Given the description of an element on the screen output the (x, y) to click on. 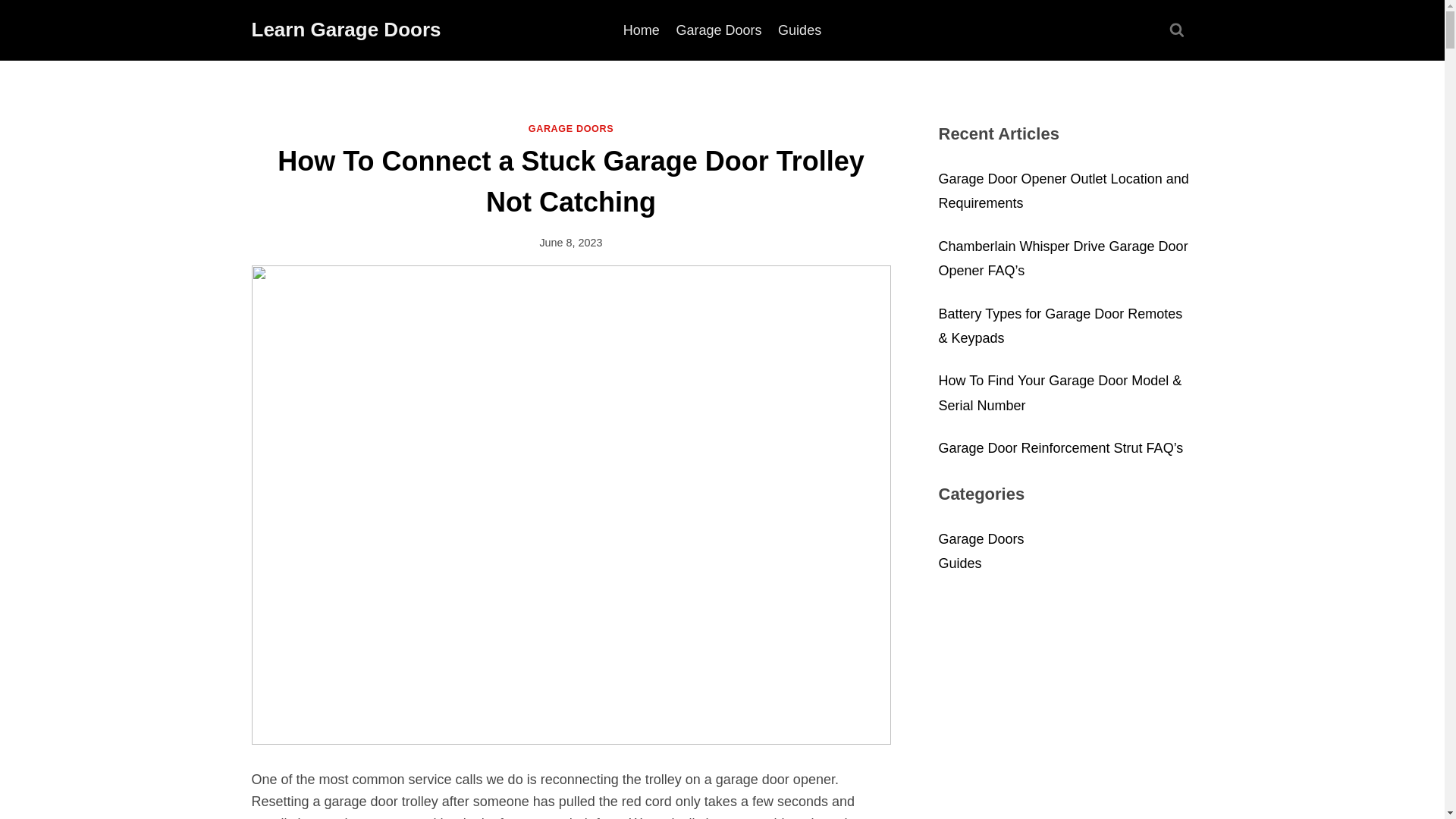
Garage Doors (719, 30)
Guides (799, 30)
GARAGE DOORS (571, 128)
Home (641, 30)
Learn Garage Doors (346, 29)
